Given the description of an element on the screen output the (x, y) to click on. 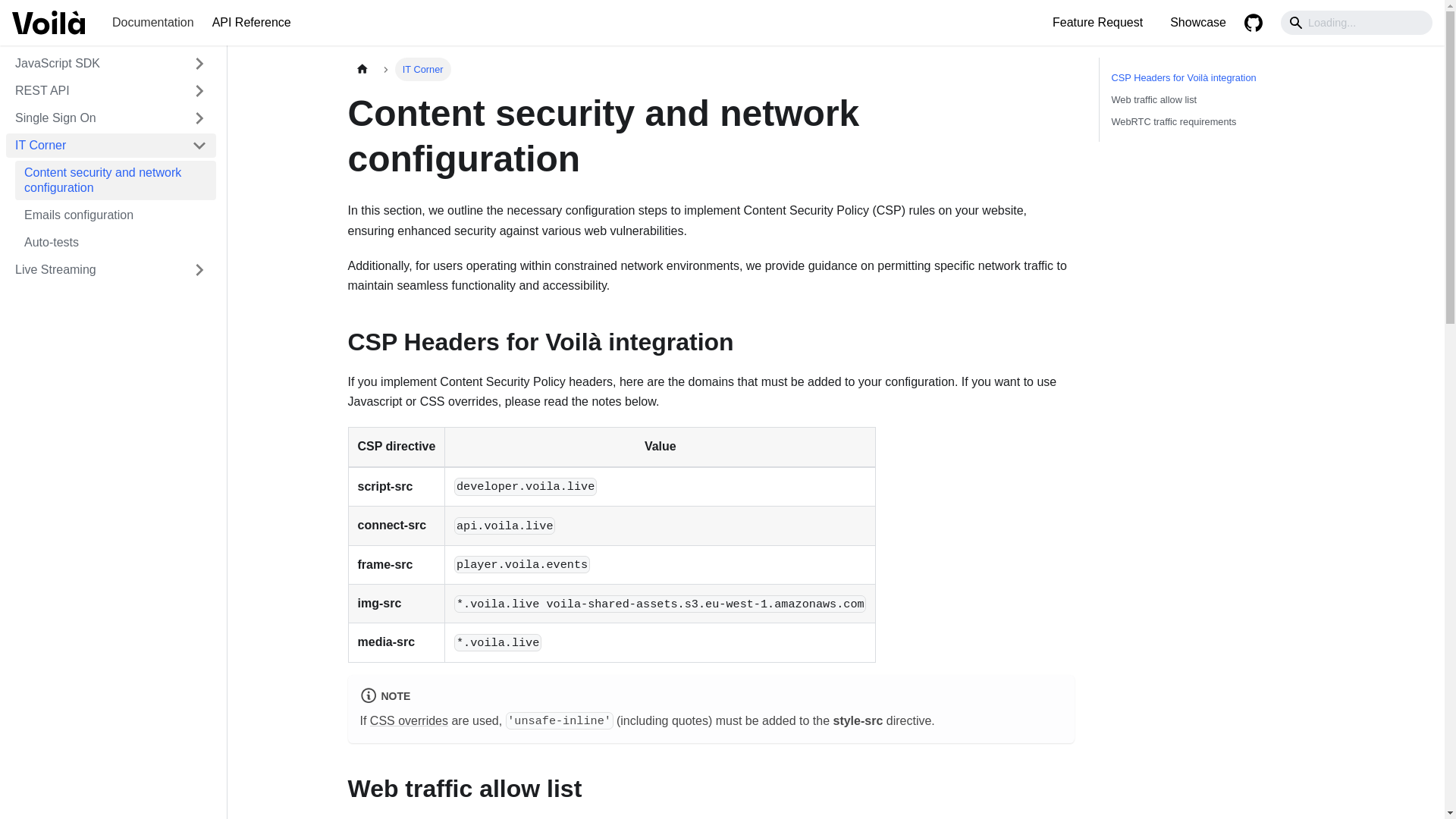
IT Corner (94, 145)
CSS overrides (408, 720)
REST API (110, 90)
Web traffic allow list (1215, 99)
Emails configuration (114, 215)
API Reference (251, 22)
WebRTC traffic requirements (1215, 121)
Single Sign On (94, 118)
Feature Request (1097, 22)
Content security and network configuration (114, 179)
Auto-tests (114, 242)
Live Streaming (94, 269)
JavaScript SDK (94, 63)
Documentation (153, 22)
Showcase (1197, 22)
